Given the description of an element on the screen output the (x, y) to click on. 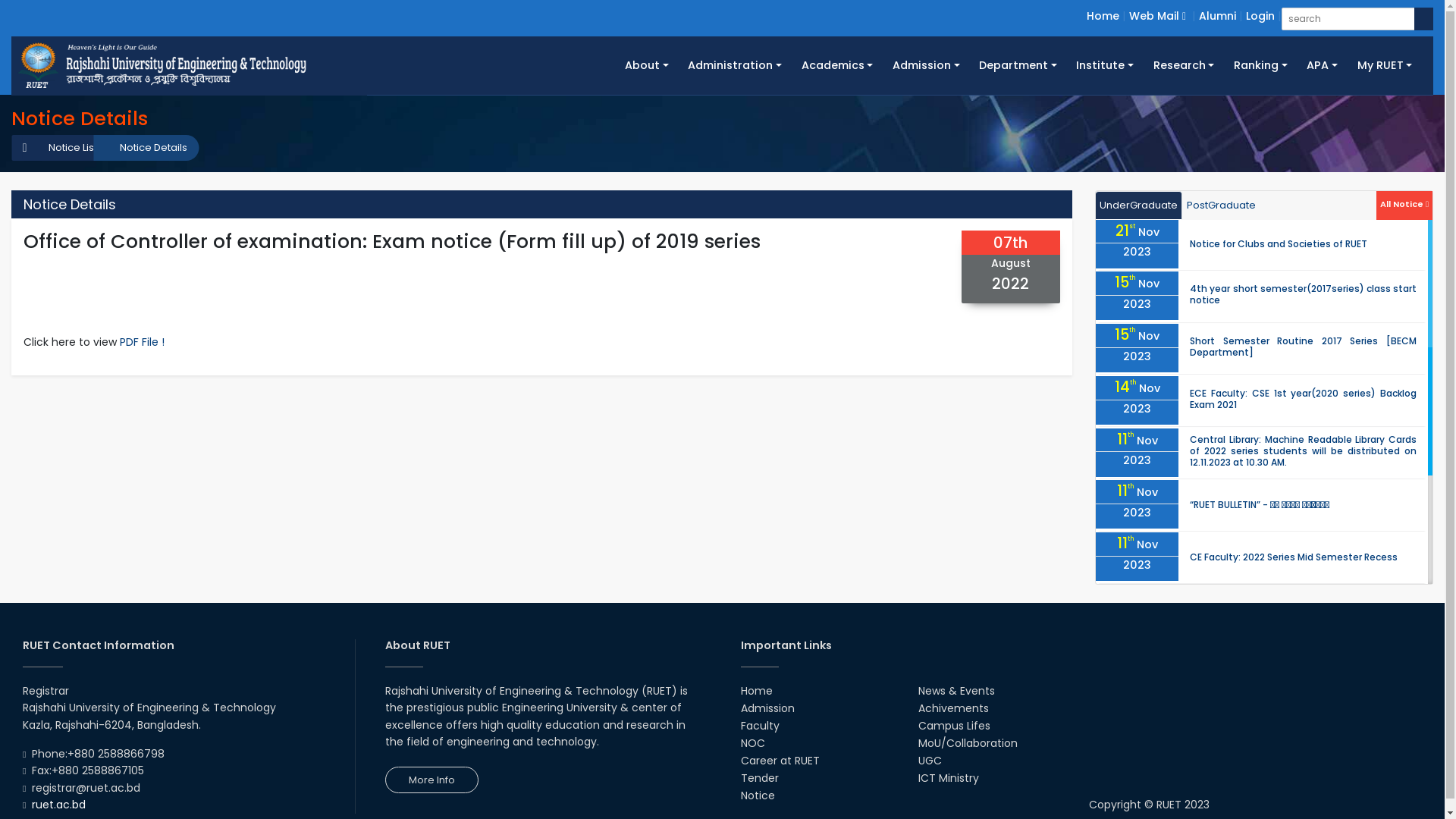
Alumni Element type: text (1217, 15)
APA Element type: text (1321, 65)
Department Element type: text (1017, 65)
My RUET Element type: text (1384, 65)
Administration Element type: text (734, 65)
NOC Element type: text (752, 742)
Achivements Element type: text (953, 707)
4th year short semester(2017series) class start notice Element type: text (1302, 293)
Career at RUET Element type: text (779, 760)
Notice for Clubs and Societies of RUET Element type: text (1278, 243)
Survey Class of 1st Year Students (2021 Series) Element type: text (1298, 660)
ECE Faculty: CSE 1st year(2020 series) Backlog Exam 2021 Element type: text (1302, 398)
All Notice Element type: text (1404, 203)
Notice List Element type: text (64, 147)
Campus Lifes Element type: text (954, 725)
Admission Element type: text (925, 65)
Faculty Element type: text (759, 725)
ICT Ministry Element type: text (948, 777)
Ranking Element type: text (1259, 65)
PostGraduate Element type: text (1221, 205)
Notice Element type: text (757, 795)
About Element type: text (646, 65)
CE Faculty: 2022 Series Mid Semester Recess Element type: text (1293, 556)
More Info Element type: text (431, 779)
Research Element type: text (1183, 65)
Login Element type: text (1259, 15)
Notice Details Element type: text (145, 147)
MoU/Collaboration Element type: text (967, 742)
Home Element type: text (755, 690)
Admission Element type: text (766, 707)
PDF File ! Element type: text (141, 341)
Academics Element type: text (836, 65)
UGC Element type: text (929, 760)
UnderGraduate Element type: text (1138, 205)
Tender Element type: text (759, 777)
Institute Element type: text (1104, 65)
Short Semester Routine 2017 Series [BECM Department] Element type: text (1302, 346)
ruet.ac.bd Element type: text (58, 804)
Home Element type: text (1102, 15)
News & Events Element type: text (956, 690)
Web Mail Element type: text (1157, 15)
